Given the description of an element on the screen output the (x, y) to click on. 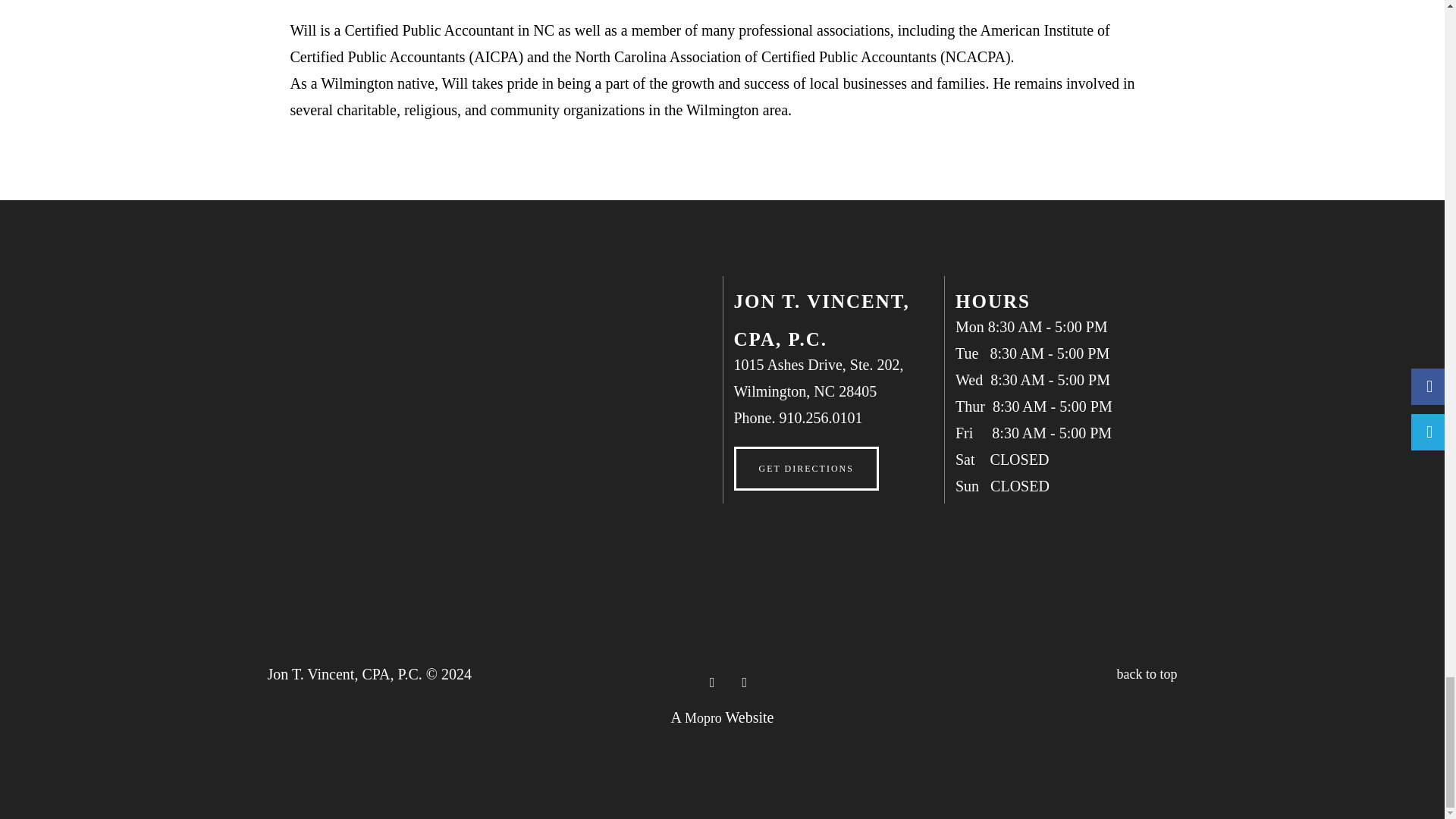
twitter icon (705, 682)
facebook icon (737, 682)
A Mopro Website (703, 717)
